Given the description of an element on the screen output the (x, y) to click on. 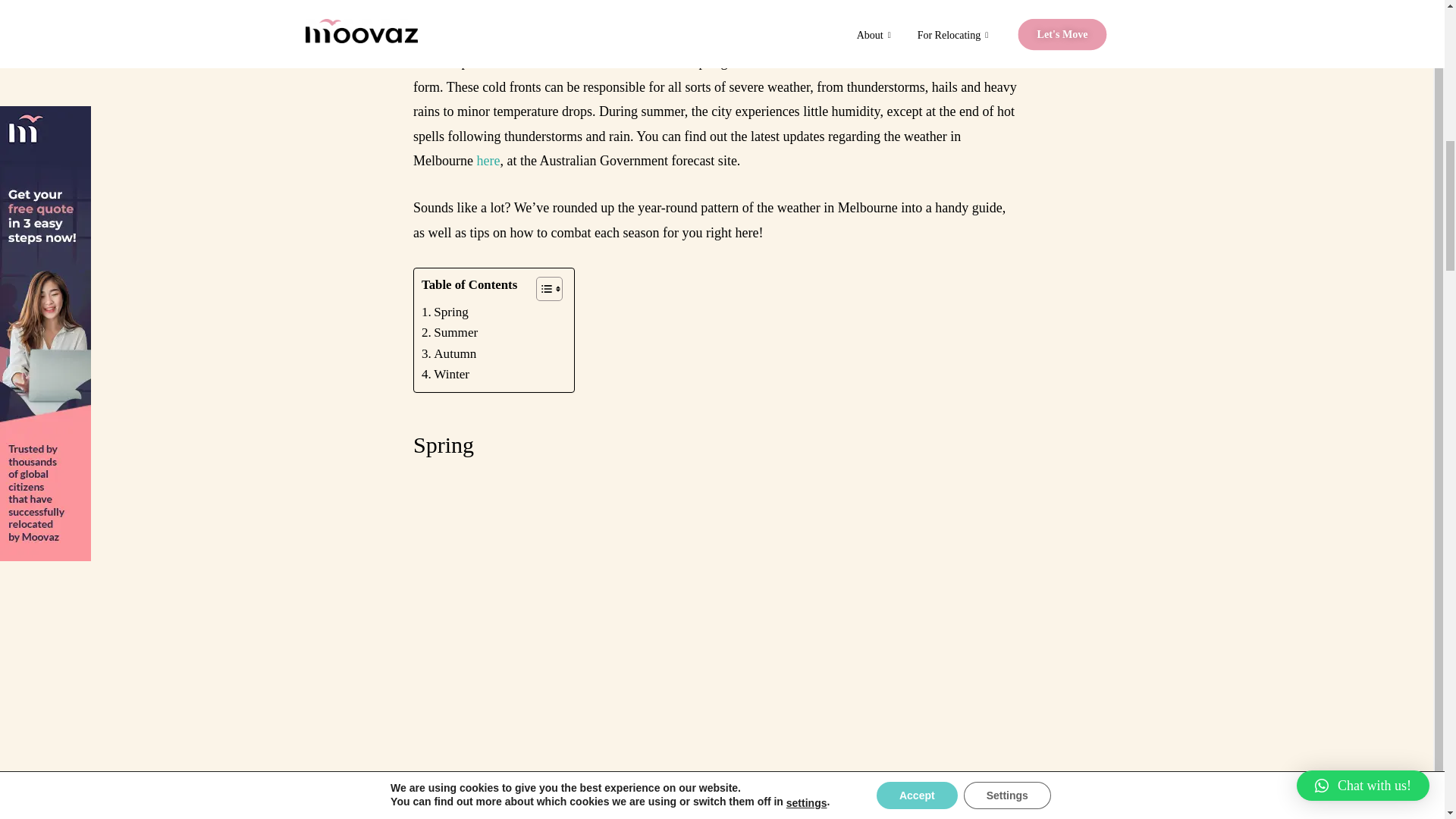
Spring  (445, 312)
Autumn  (449, 353)
Summer  (449, 332)
Winter  (445, 373)
